Given the description of an element on the screen output the (x, y) to click on. 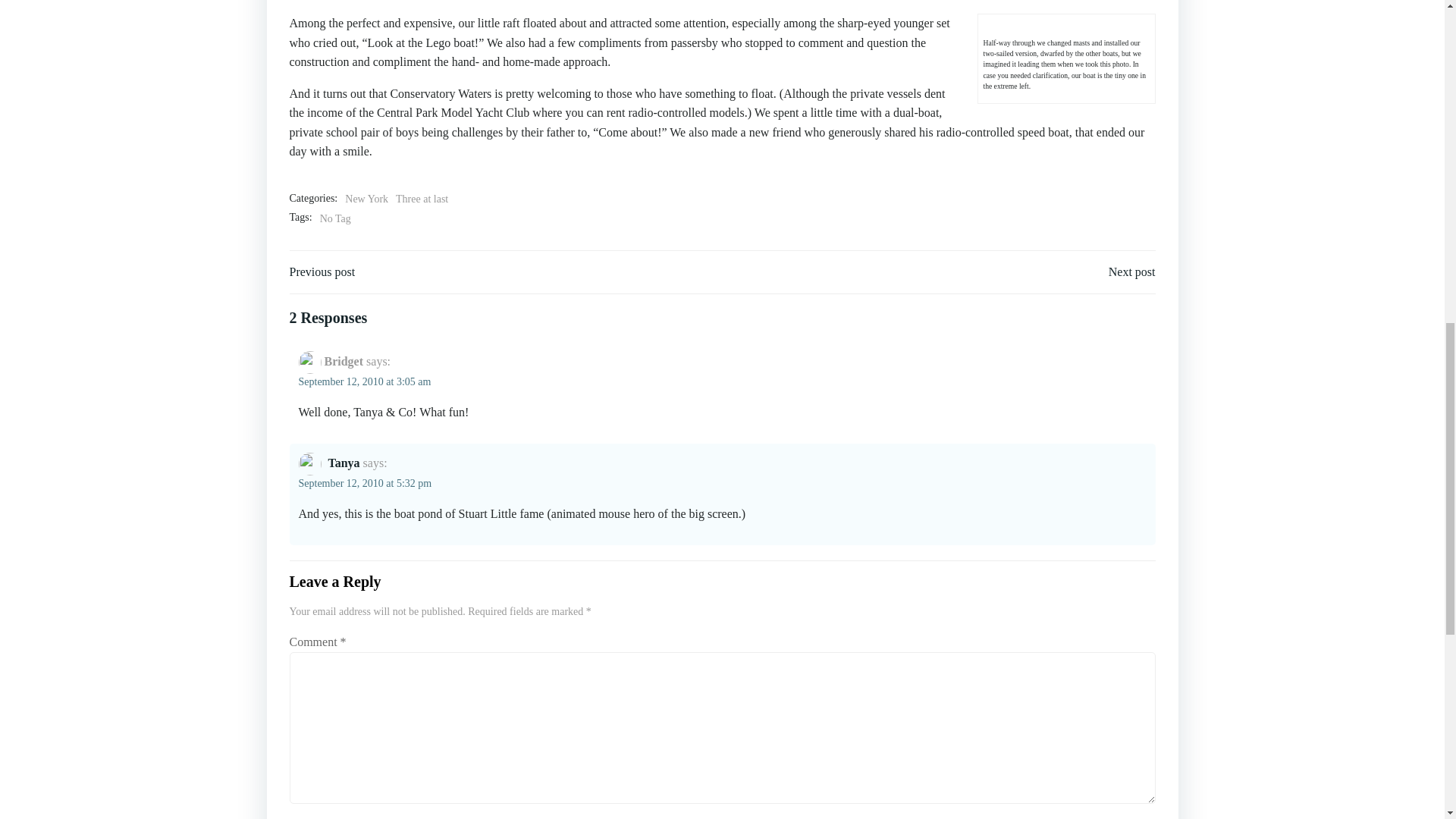
Tanya (343, 462)
Next post (1132, 271)
Previous post (322, 271)
New York (366, 199)
Three at last (422, 199)
September 12, 2010 at 3:05 am (364, 381)
September 12, 2010 at 5:32 pm (365, 482)
